Given the description of an element on the screen output the (x, y) to click on. 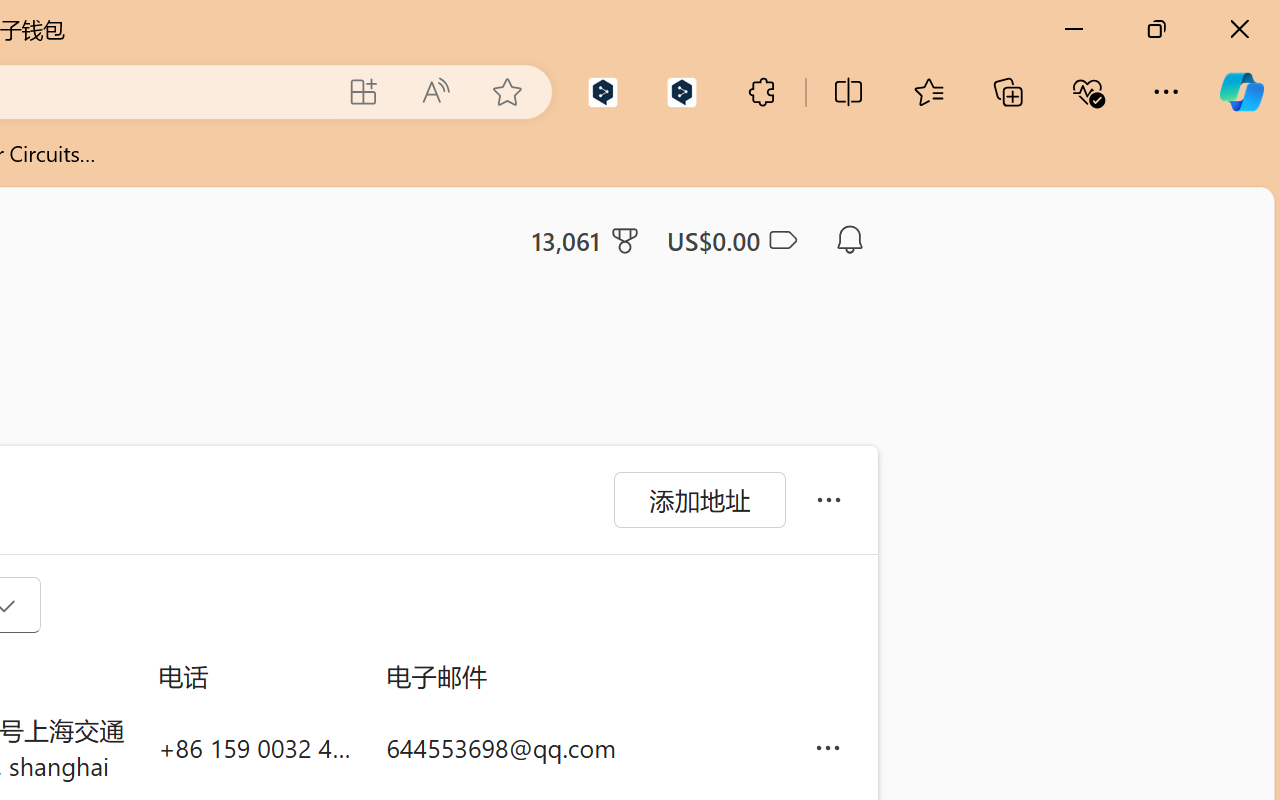
644553698@qq.com (583, 747)
+86 159 0032 4640 (256, 747)
